Given the description of an element on the screen output the (x, y) to click on. 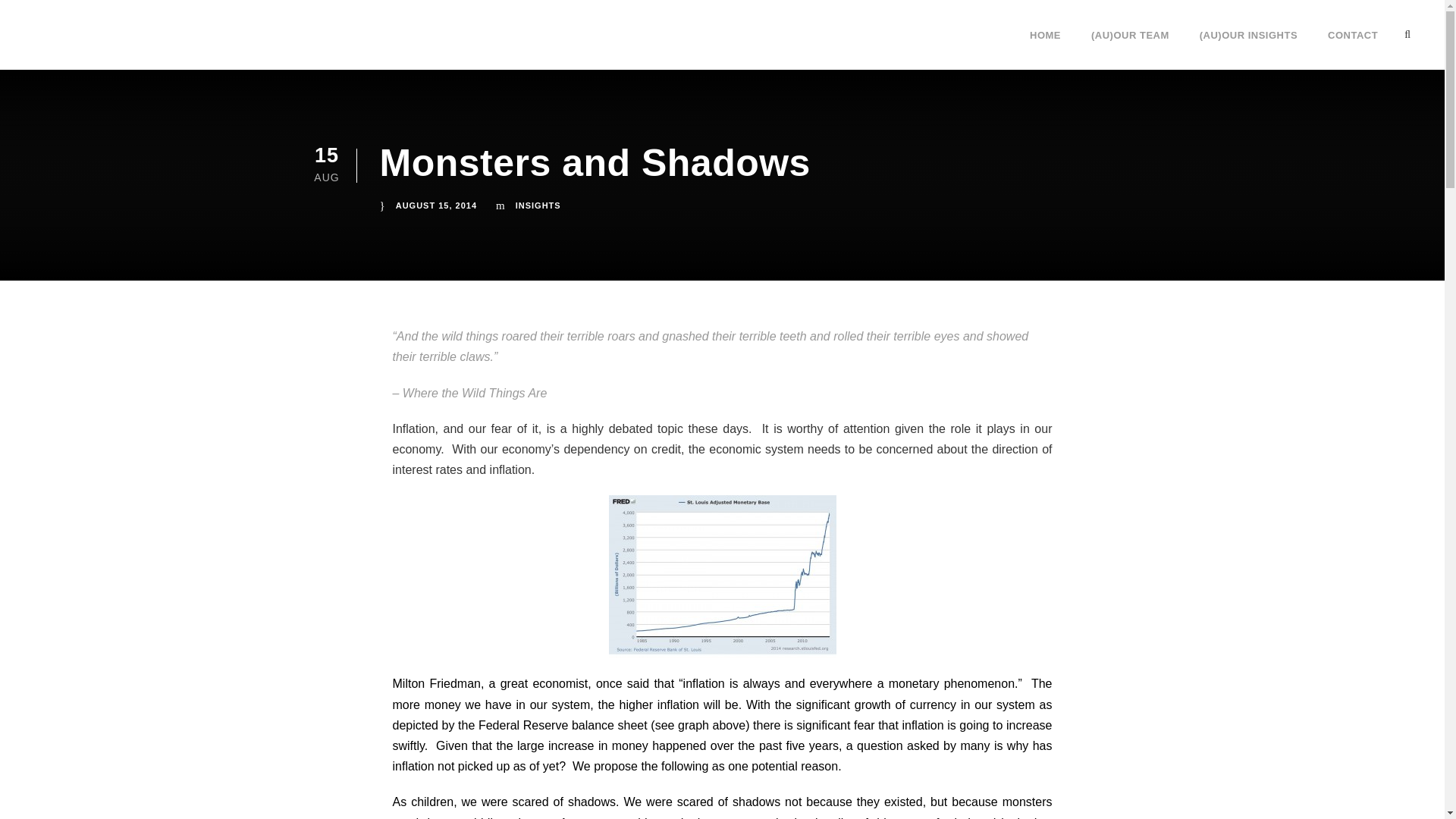
Form CRS (912, 641)
here (583, 608)
CONTACT (1352, 48)
AUGUST 15, 2014 (436, 204)
INSIGHTS (537, 204)
Company headshots by David Shopper (423, 673)
ADV Part 2A (917, 621)
Brokercheck (978, 537)
